Given the description of an element on the screen output the (x, y) to click on. 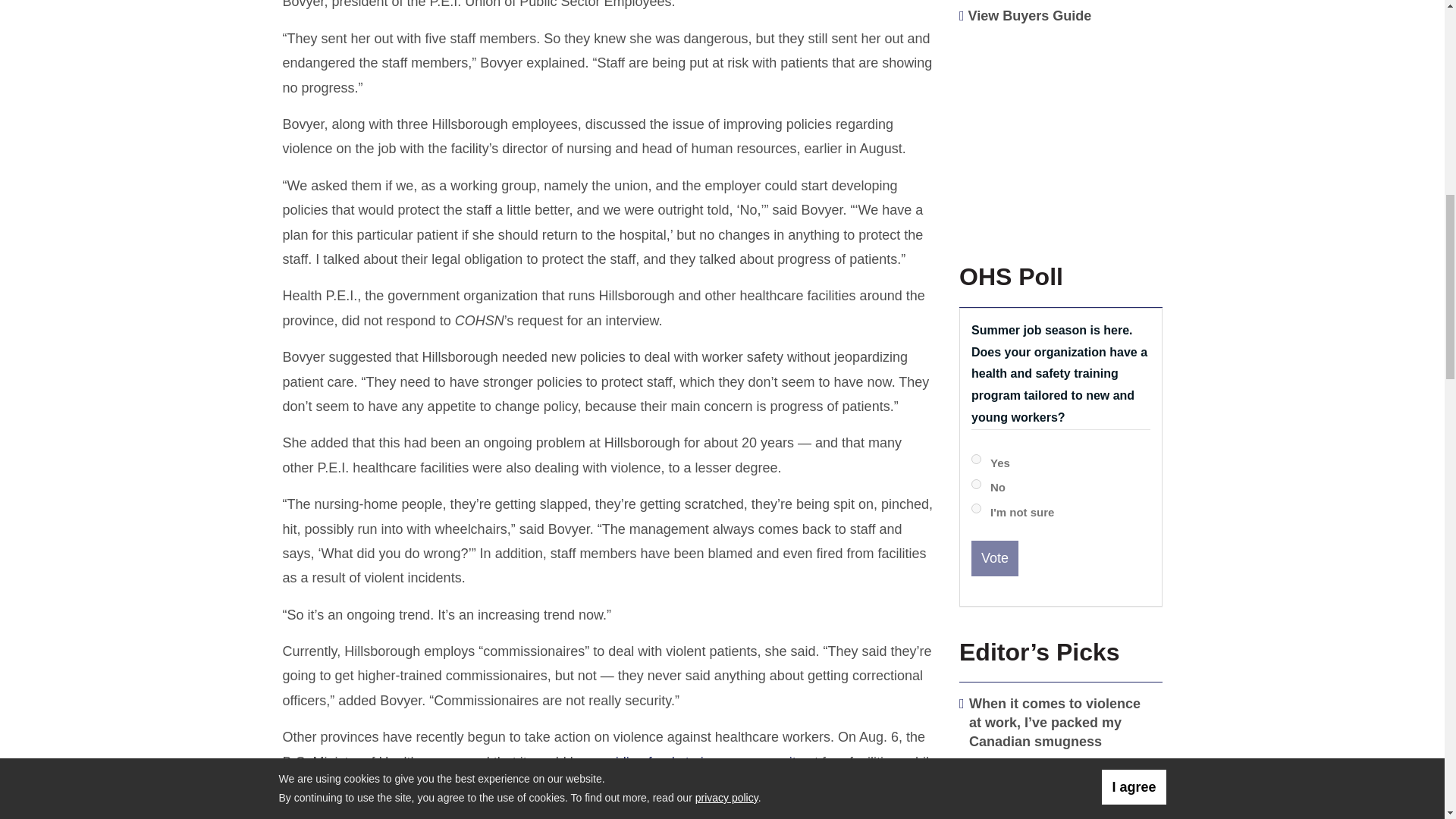
3rd party ad content (1057, 132)
gpoll188dfb902 (976, 483)
gpoll141fdf755 (976, 508)
gpoll135233128 (976, 459)
Vote (994, 557)
